Given the description of an element on the screen output the (x, y) to click on. 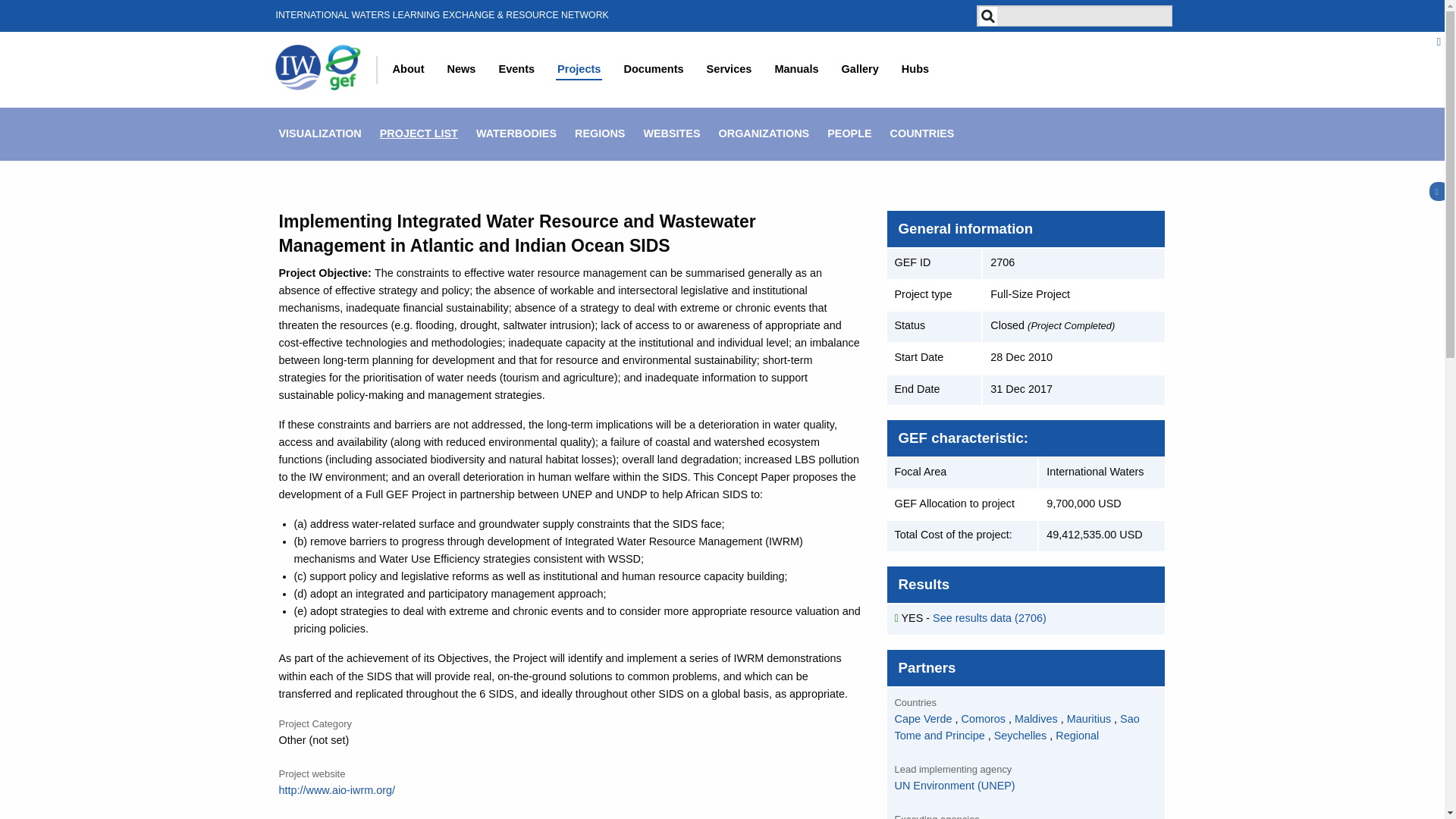
ORGANIZATIONS (767, 133)
Manuals (796, 69)
VISUALIZATION (323, 133)
Hubs (914, 69)
WEBSITES (675, 133)
Projects (579, 69)
Services (729, 69)
PEOPLE (853, 133)
WATERBODIES (519, 133)
About (408, 69)
REGIONS (603, 133)
Events (515, 69)
News (461, 69)
Gallery (860, 69)
COUNTRIES (926, 133)
